Given the description of an element on the screen output the (x, y) to click on. 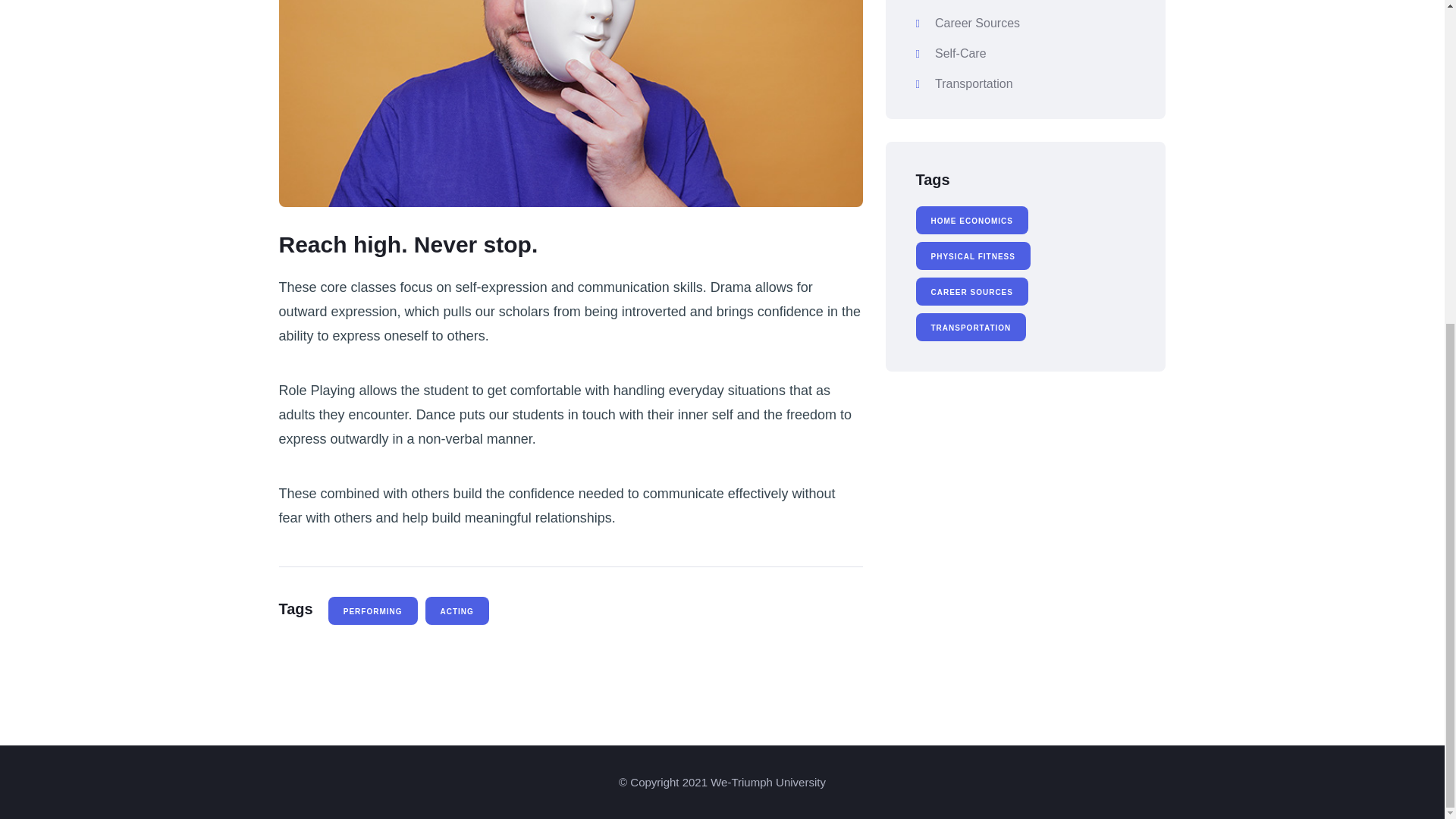
Physical Fitness (1025, 2)
Self-Care (1025, 54)
CAREER SOURCES (971, 292)
HOME ECONOMICS (971, 221)
PHYSICAL FITNESS (972, 257)
PERFORMING (373, 610)
TRANSPORTATION (970, 327)
Transportation (1025, 84)
ACTING (457, 610)
Career Sources (1025, 24)
